Given the description of an element on the screen output the (x, y) to click on. 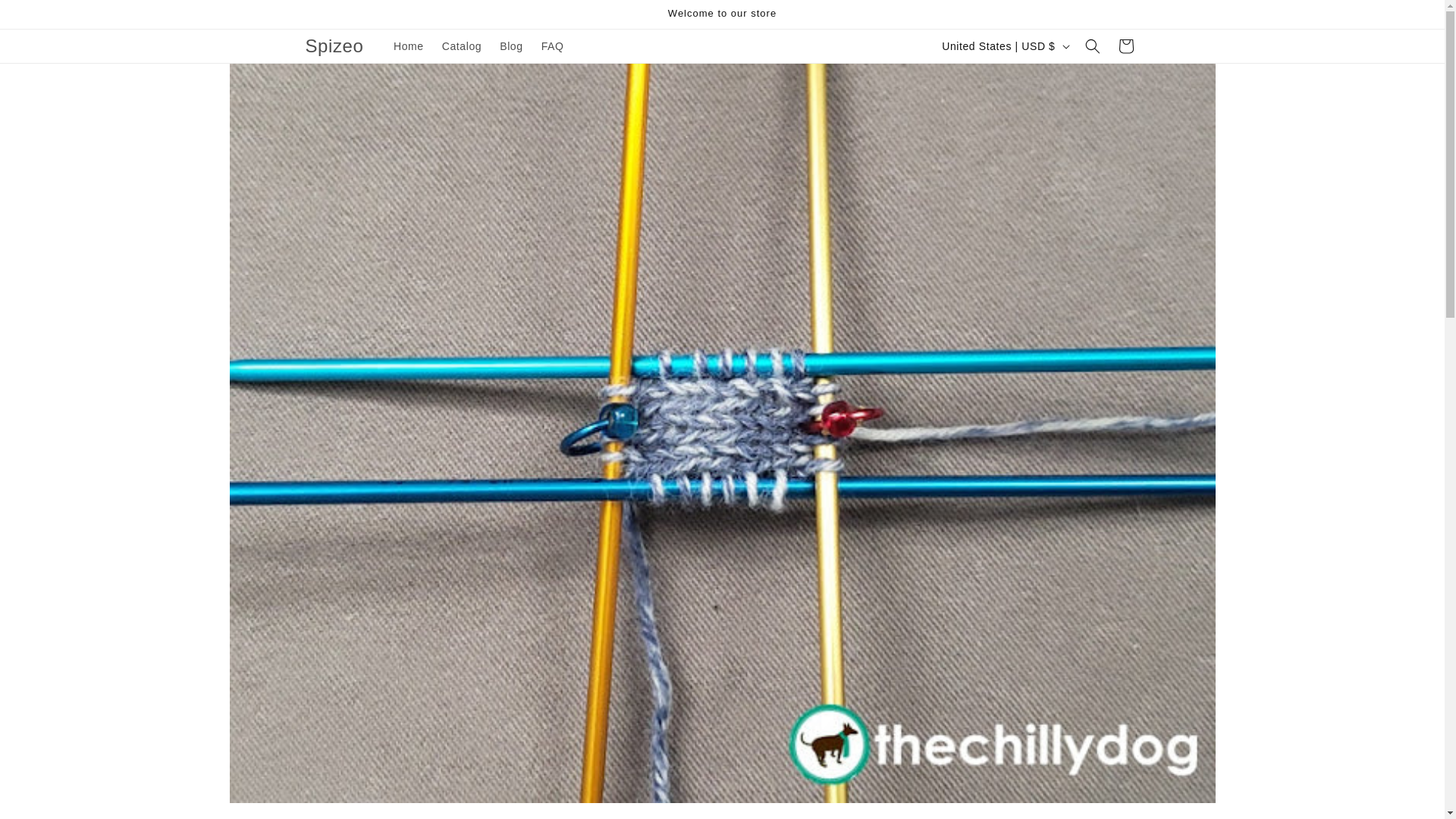
Home (408, 46)
Spizeo (334, 46)
Blog (510, 46)
Catalog (461, 46)
Skip to content (45, 17)
Cart (1124, 46)
FAQ (552, 46)
